Given the description of an element on the screen output the (x, y) to click on. 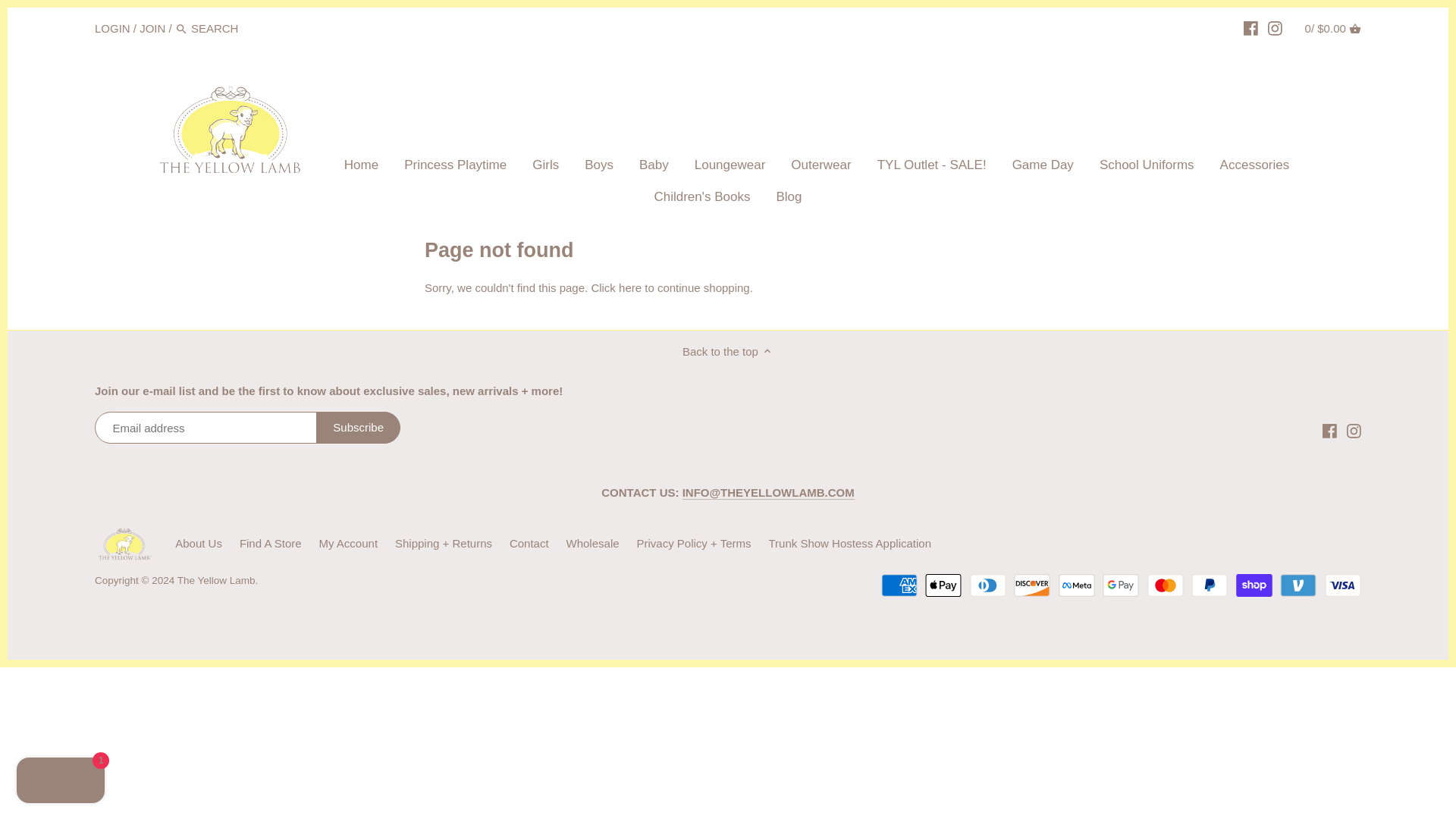
The Yellow Lamb (216, 580)
Subscribe (357, 427)
TYL Outlet - SALE! (931, 167)
Home (361, 167)
Children's Books (701, 199)
Click here (616, 287)
PayPal (1209, 585)
Meta Pay (1076, 585)
Contact (528, 543)
CART (1355, 28)
My Account (348, 543)
American Express (898, 585)
Game Day (1042, 167)
Facebook (1329, 429)
Back to the top (727, 351)
